Given the description of an element on the screen output the (x, y) to click on. 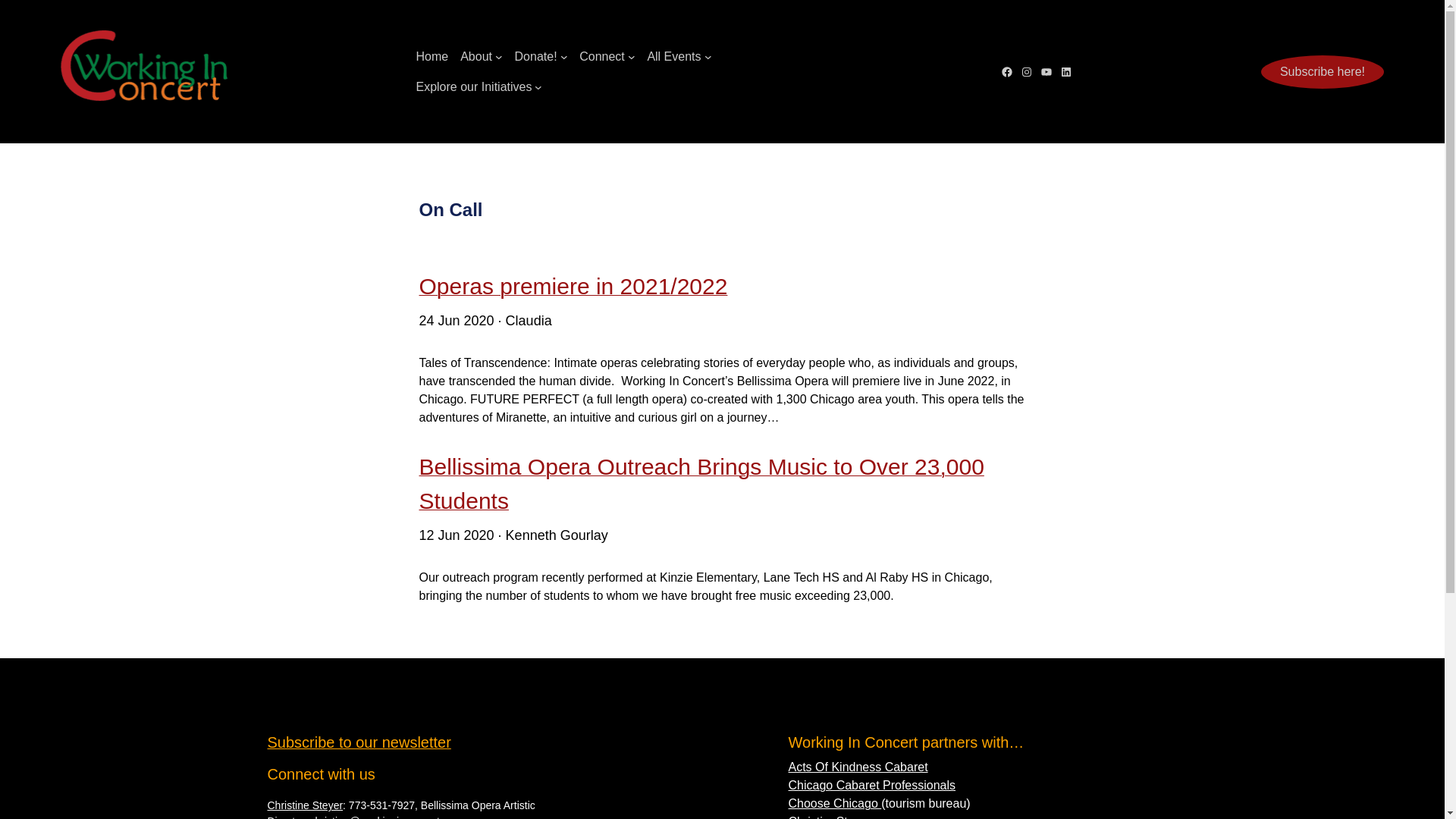
LinkedIn (1065, 71)
Connect (601, 56)
Home (431, 56)
About (476, 56)
Instagram (1026, 71)
Donate! (536, 56)
All Events (673, 56)
Subscribe here! (1322, 71)
Facebook (1007, 71)
